Given the description of an element on the screen output the (x, y) to click on. 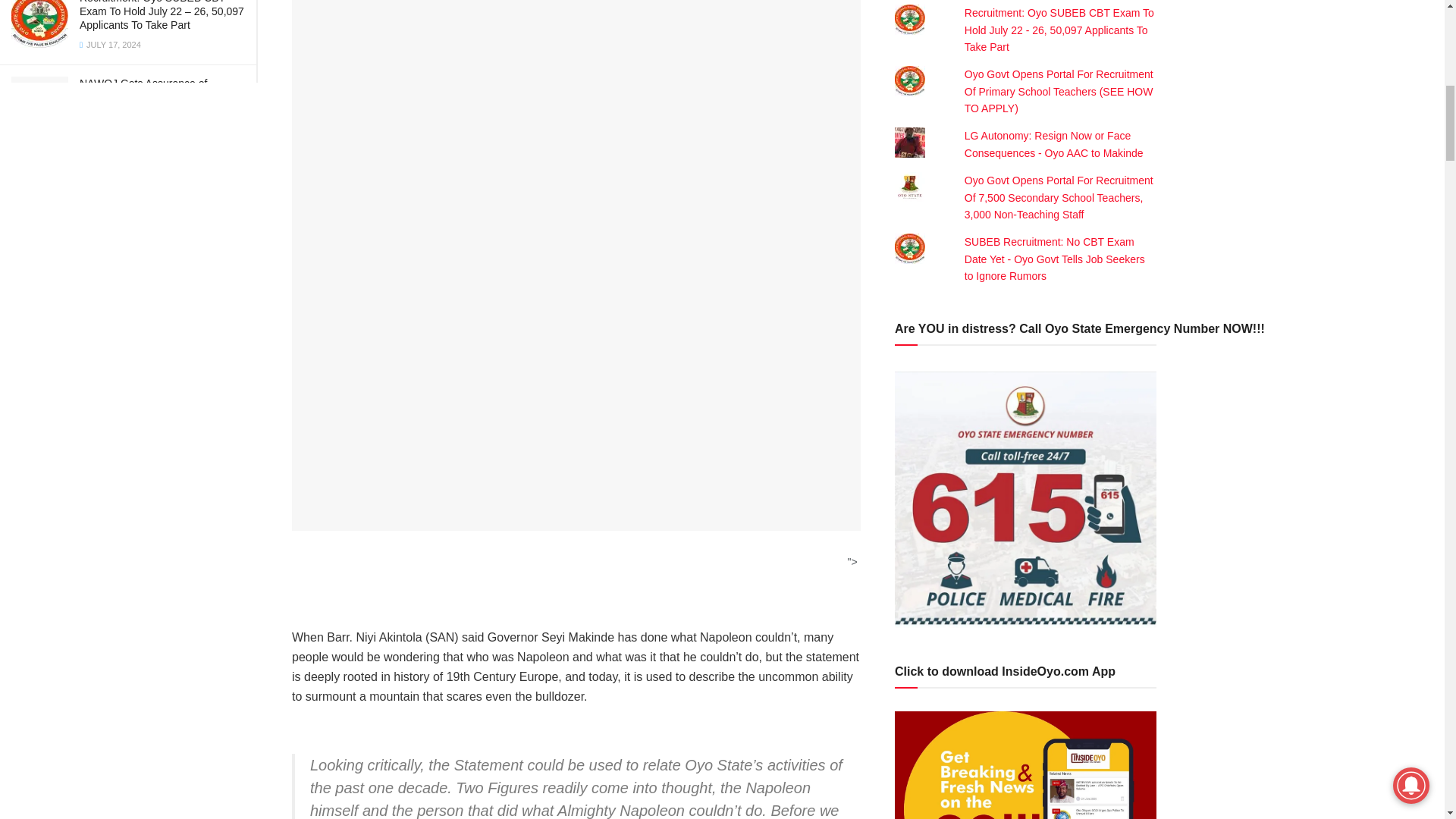
NAWOJ Gets Assurance of Support from Oyo SUBEB Chairman (143, 96)
